Given the description of an element on the screen output the (x, y) to click on. 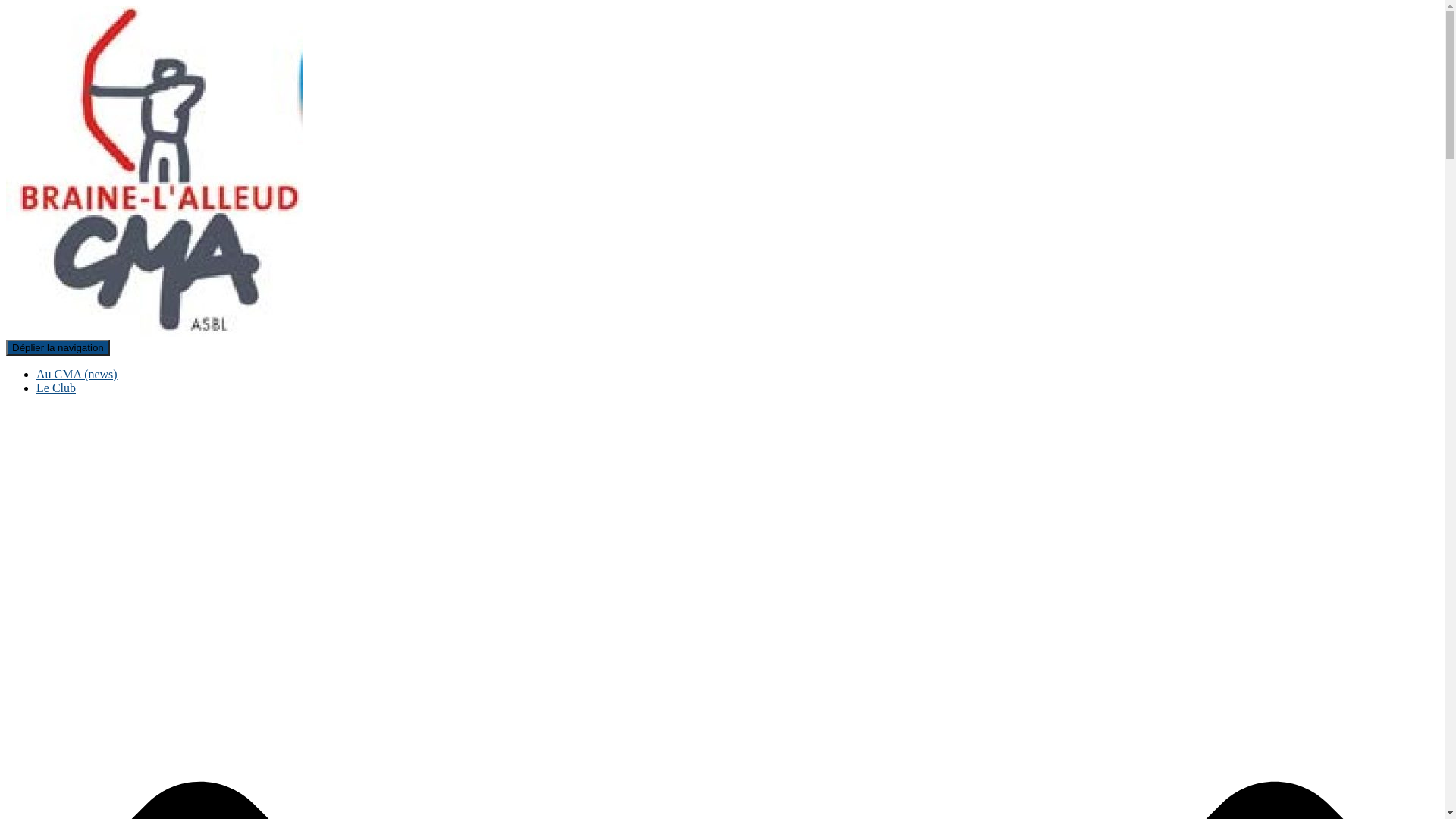
Cardinal Mercier Archery Element type: hover (154, 332)
Au CMA (news) Element type: text (76, 373)
